Given the description of an element on the screen output the (x, y) to click on. 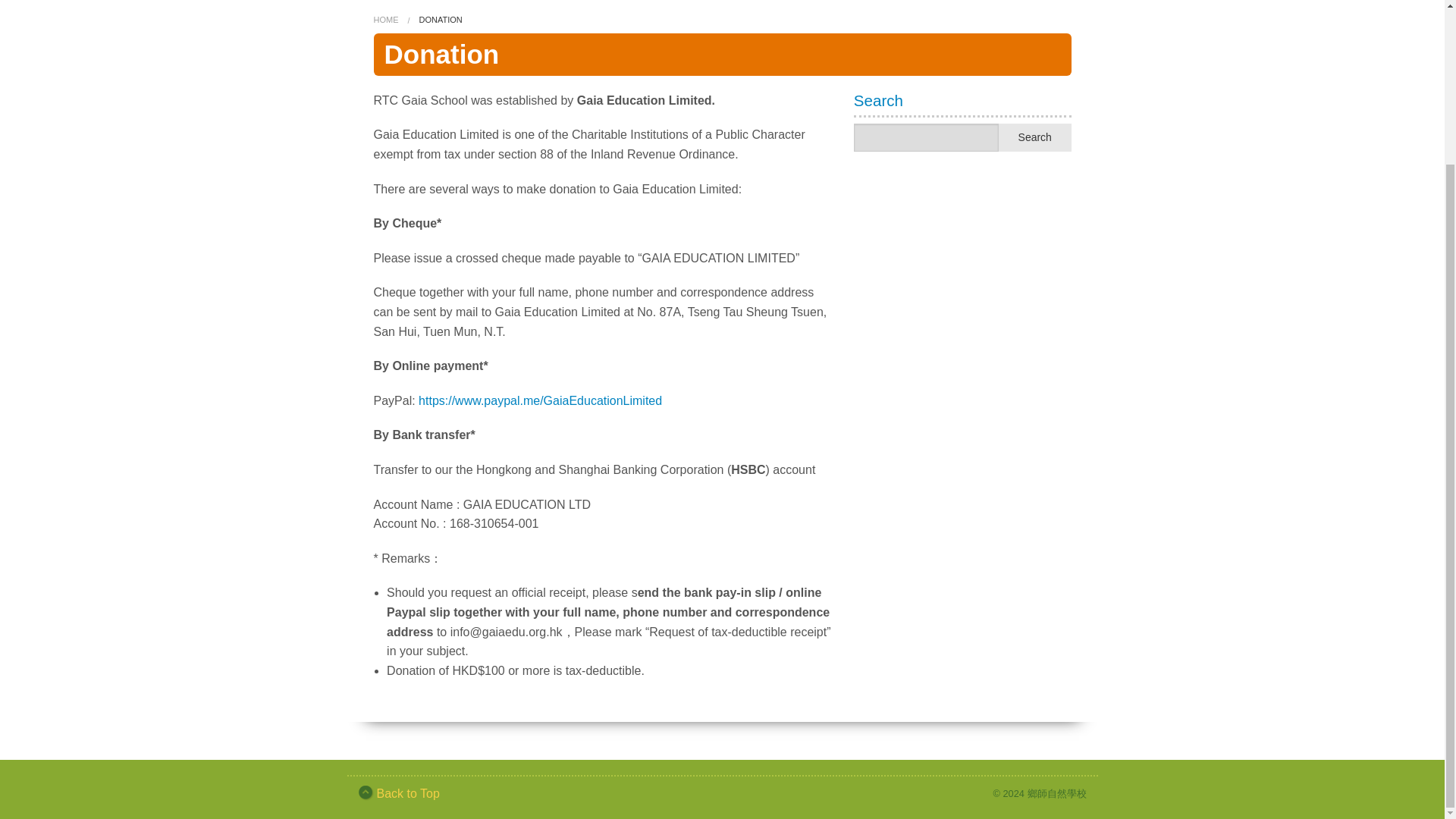
The Environment (654, 42)
Search (1034, 137)
The Teachers (654, 12)
HOME (384, 19)
Search (1034, 137)
